Given the description of an element on the screen output the (x, y) to click on. 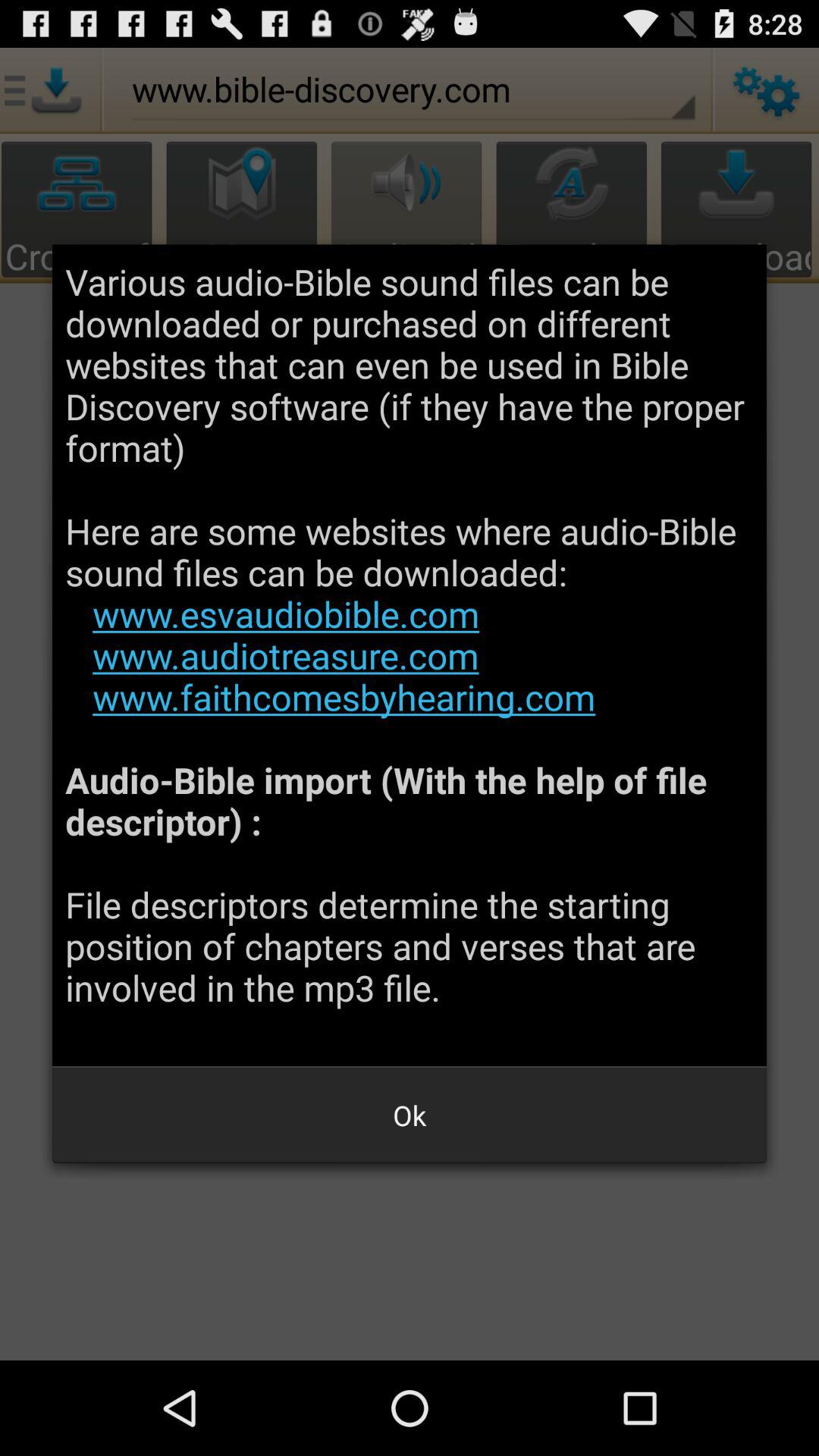
swipe until various audio bible item (409, 655)
